Given the description of an element on the screen output the (x, y) to click on. 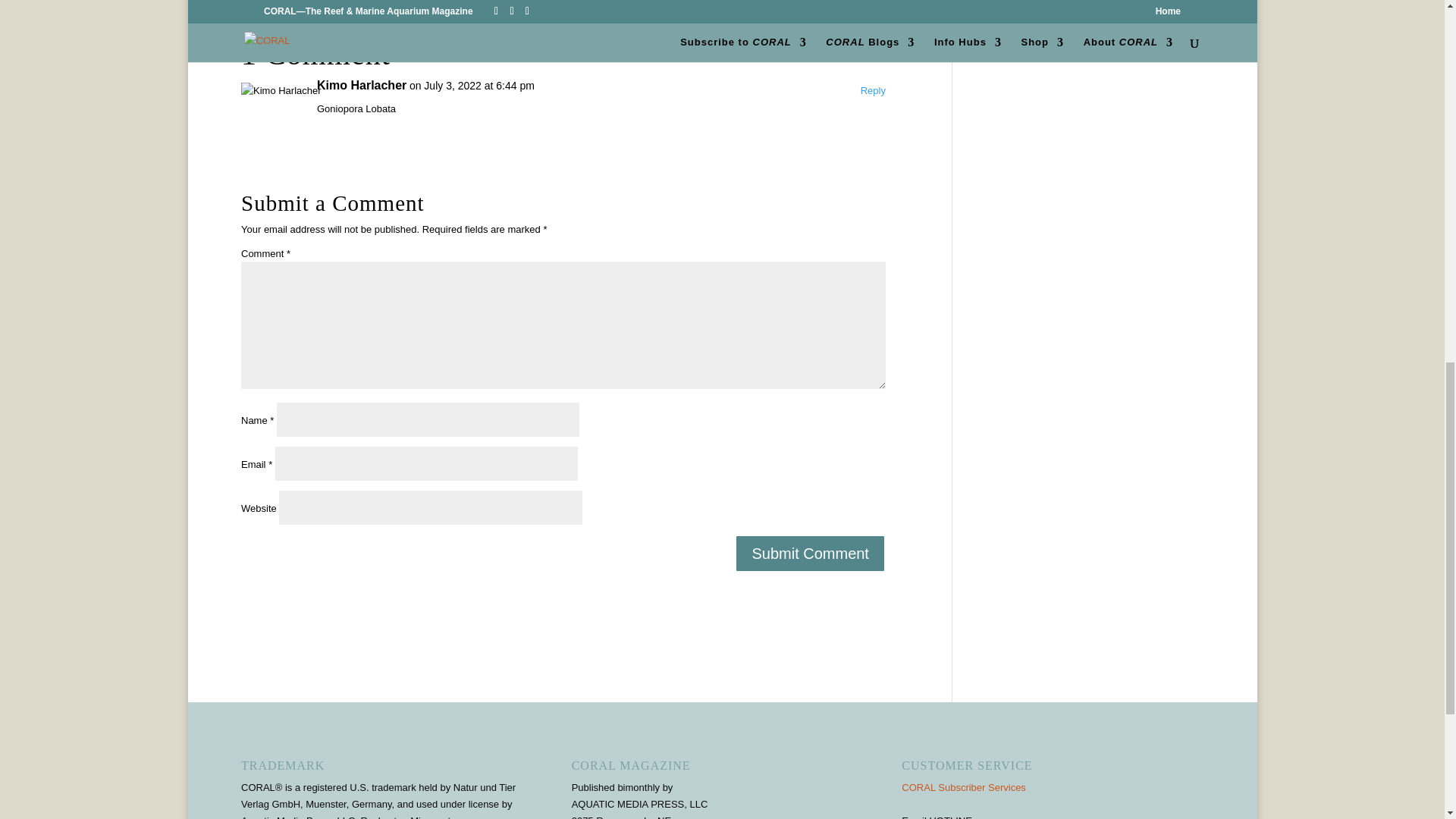
Submit Comment (810, 553)
